Given the description of an element on the screen output the (x, y) to click on. 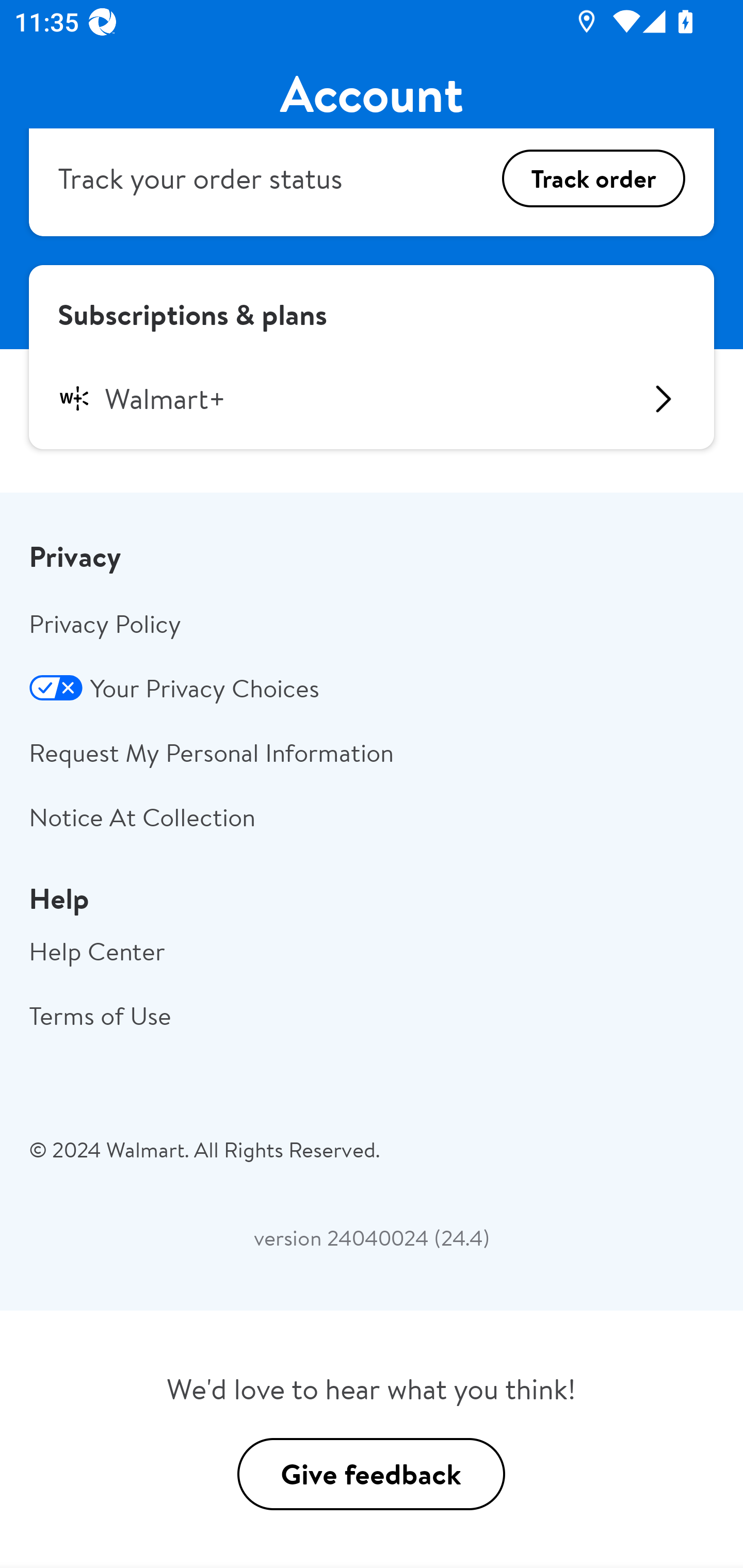
Track order (593, 177)
Walmart+ (371, 399)
Privacy Policy (371, 623)
Your Privacy Choices (371, 687)
Request My Personal Information (371, 751)
Notice At Collection (371, 816)
Help Center (371, 950)
Terms of Use (371, 1015)
Give feedback (371, 1473)
